Given the description of an element on the screen output the (x, y) to click on. 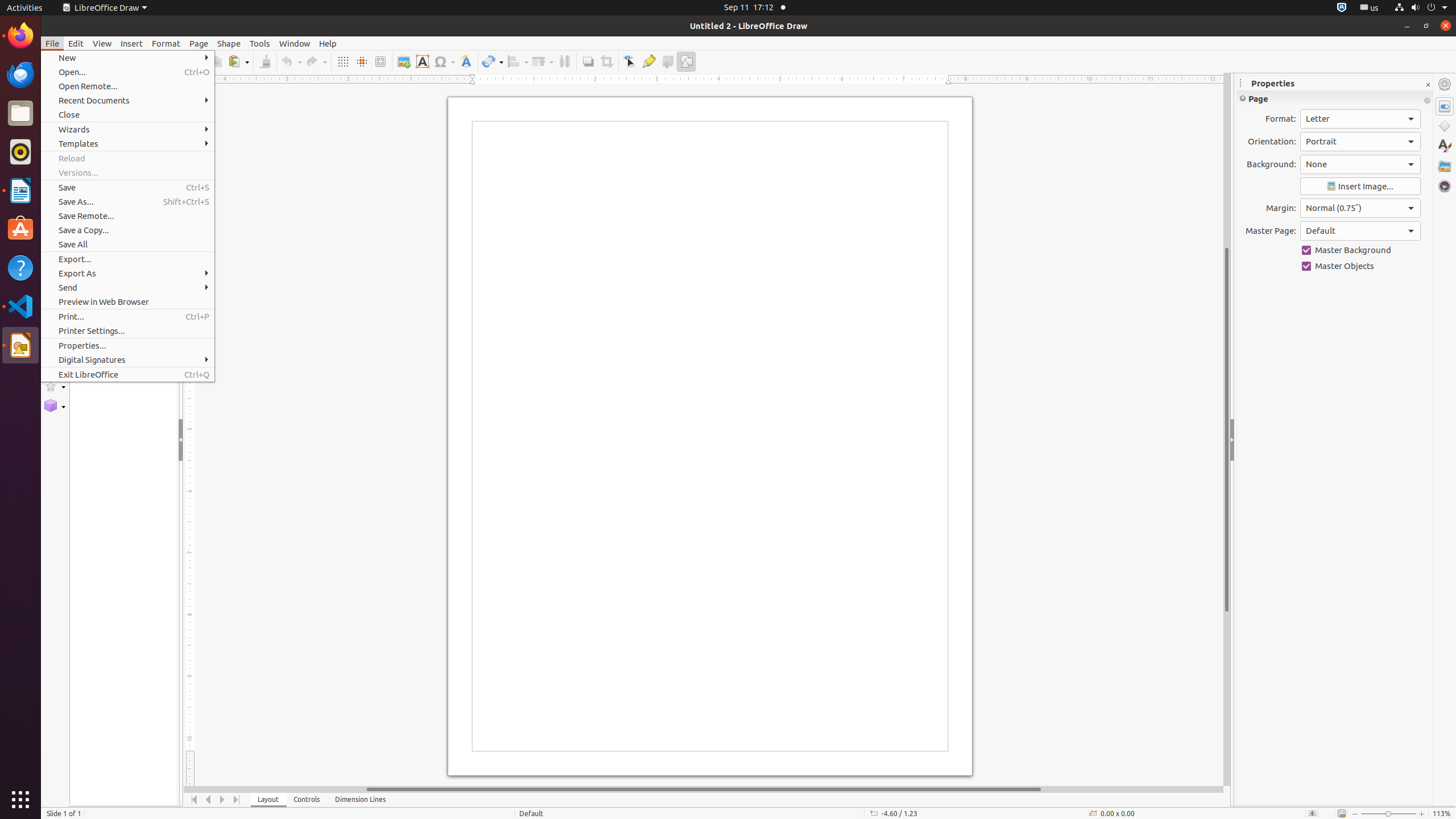
New Element type: menu (127, 57)
Background: Element type: combo-box (1360, 164)
Save All Element type: menu-item (127, 244)
Exit LibreOffice Element type: menu-item (127, 374)
Zoom & Pan Element type: push-button (379, 61)
